Given the description of an element on the screen output the (x, y) to click on. 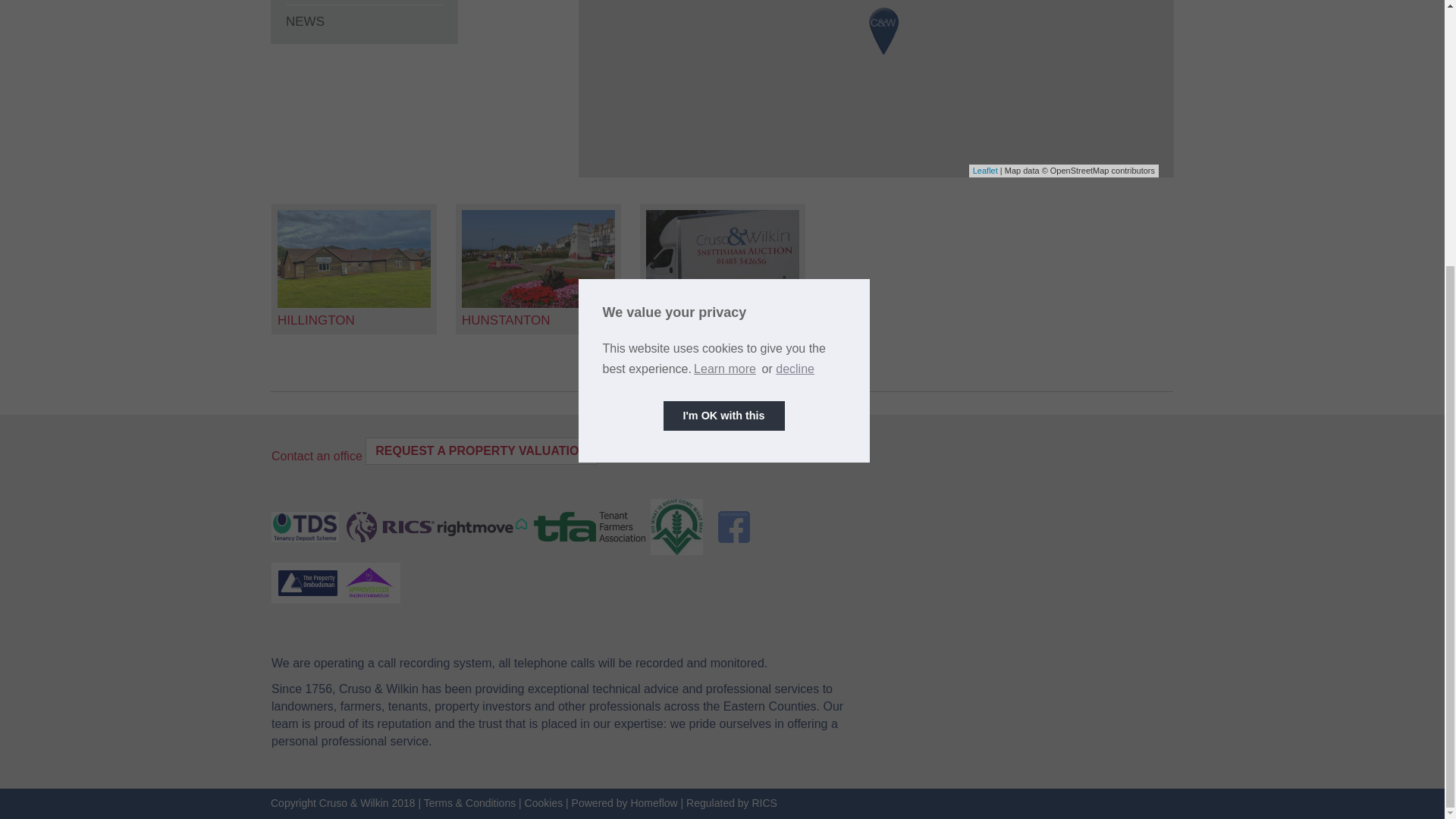
HUNSTANTON (505, 319)
Contact an office (316, 455)
REQUEST A PROPERTY VALUATION (480, 451)
Homeflow (653, 802)
Leaflet (984, 170)
NEWS (363, 21)
A JS library for interactive maps (984, 170)
I'm OK with this (723, 30)
Cookies (543, 802)
SNETTISHAM AUCTION CENTRE (718, 327)
ABOUT US (363, 2)
HILLINGTON (316, 319)
